Given the description of an element on the screen output the (x, y) to click on. 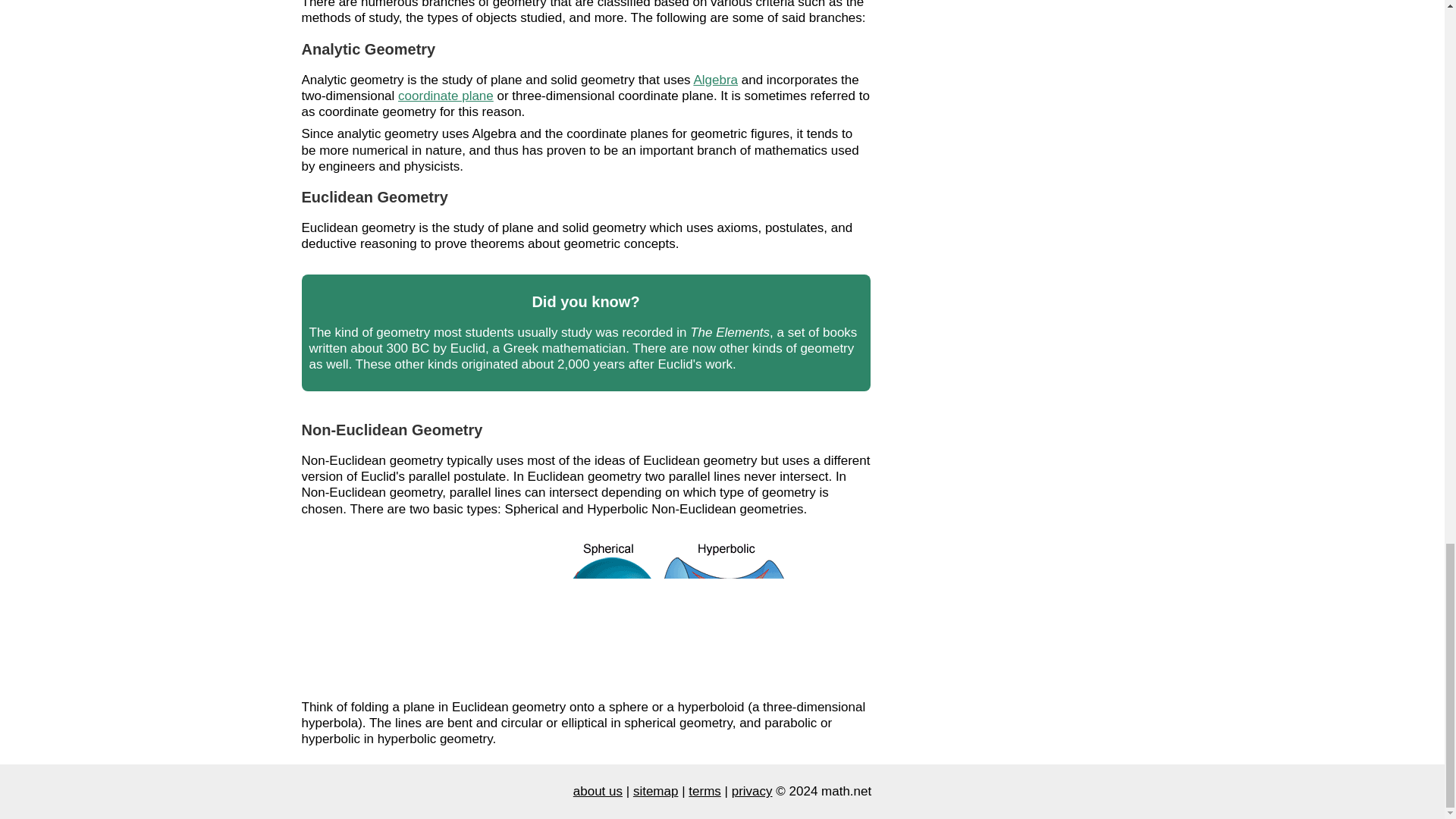
terms (704, 790)
coordinate plane (445, 95)
about us (598, 790)
sitemap (655, 790)
Algebra (715, 79)
privacy (752, 790)
